Given the description of an element on the screen output the (x, y) to click on. 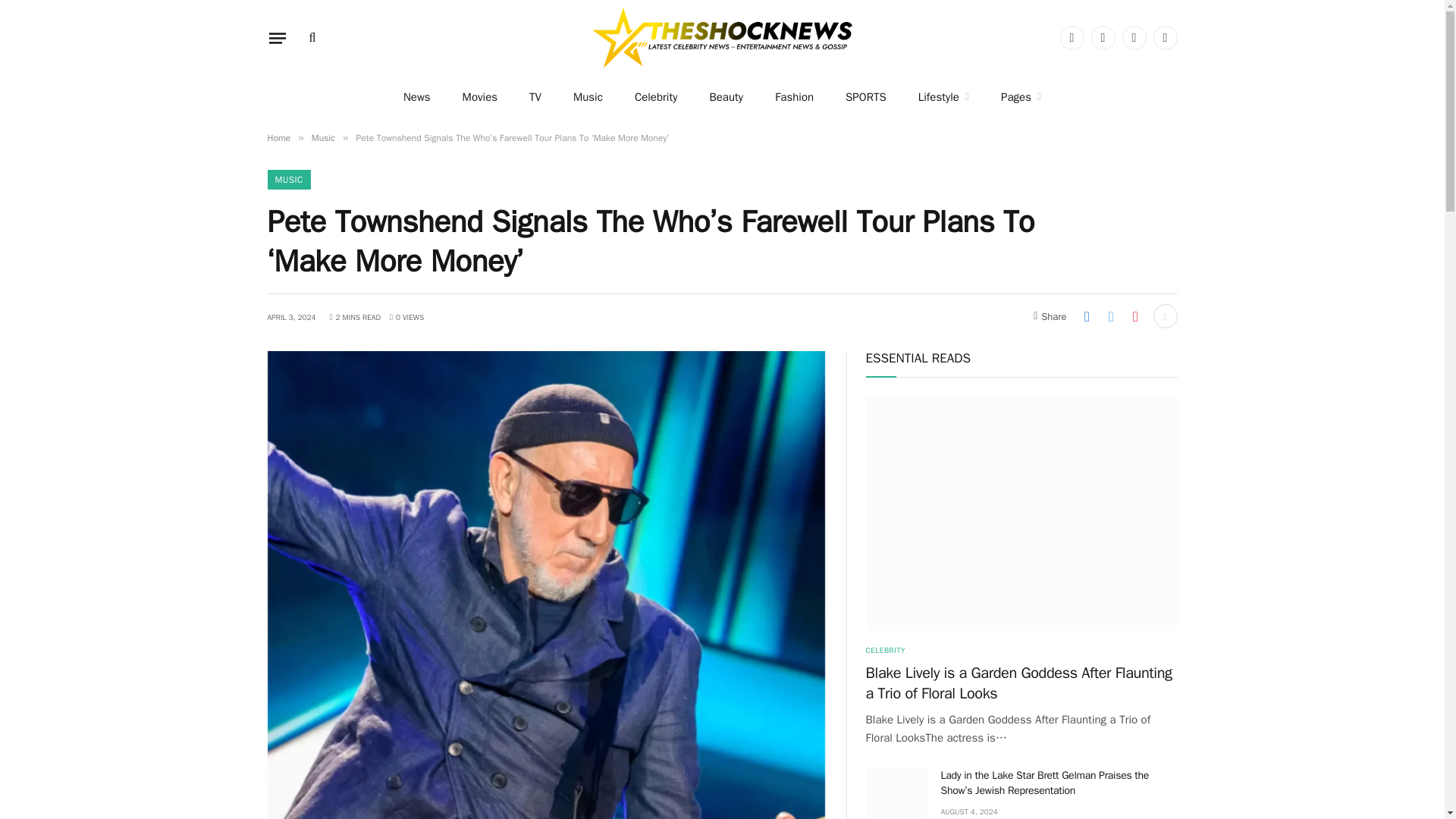
Share on Pinterest (1135, 315)
Instagram (1134, 37)
News (416, 96)
TV (535, 96)
Music (587, 96)
Facebook (1071, 37)
Pinterest (1164, 37)
Beauty (725, 96)
Pages (1021, 96)
Celebrity (656, 96)
Movies (479, 96)
SPORTS (865, 96)
Share on Facebook (1086, 315)
0 Article Views (406, 317)
Fashion (793, 96)
